Given the description of an element on the screen output the (x, y) to click on. 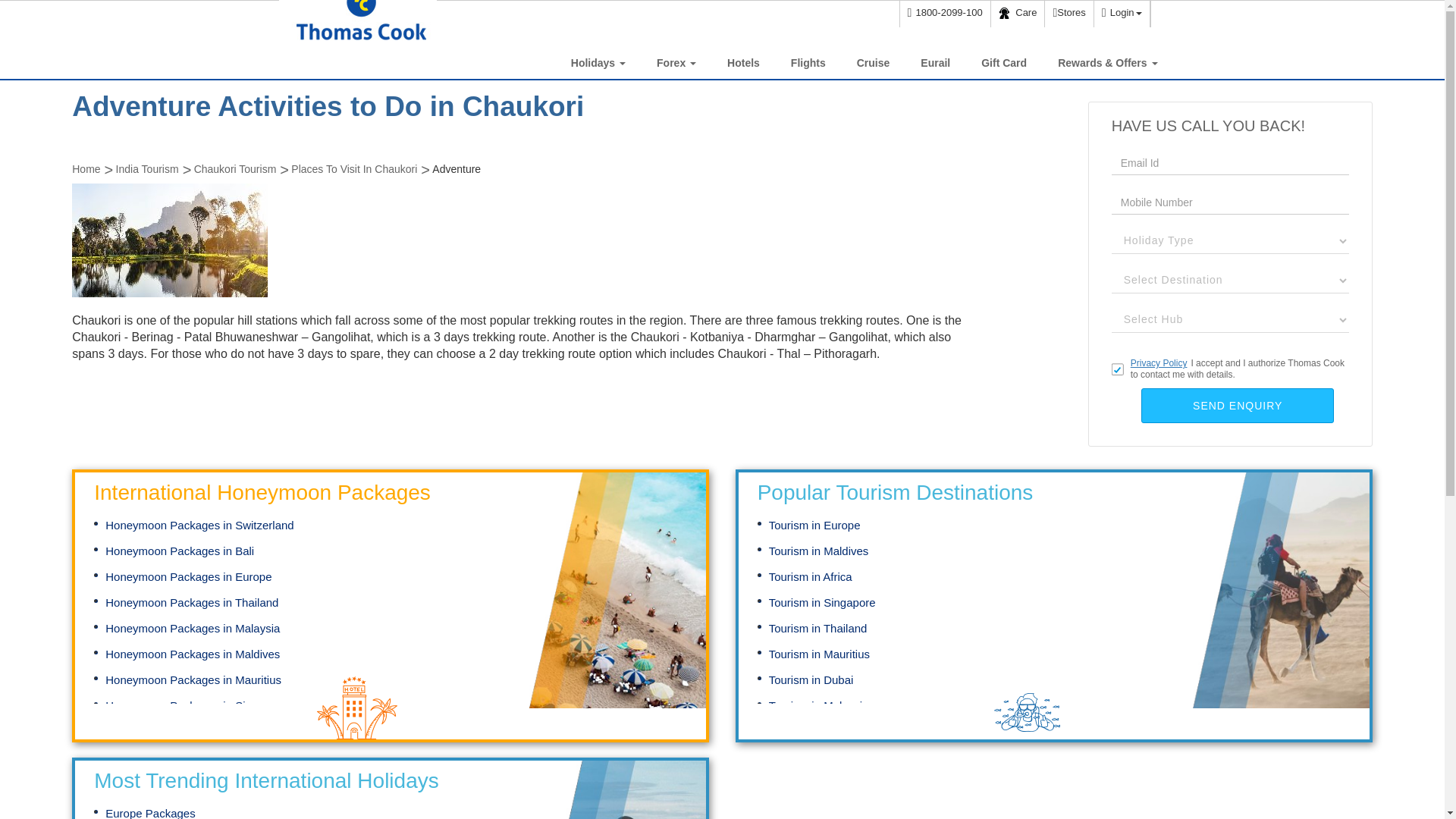
Login (1121, 13)
Care (1017, 13)
Stores (1068, 13)
1800-2099-100 (944, 13)
